Given the description of an element on the screen output the (x, y) to click on. 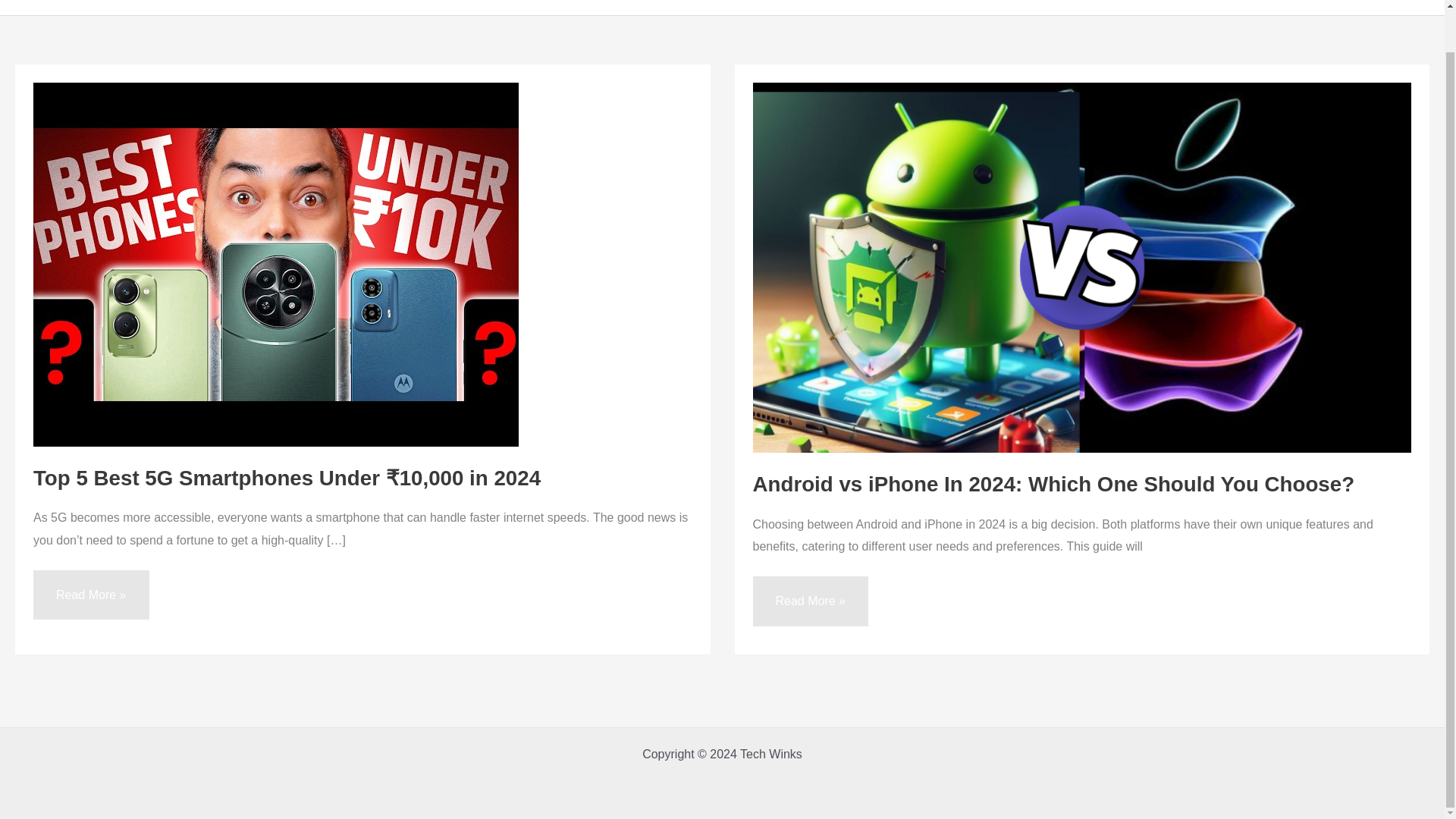
Home (904, 6)
Organic Tricks (1243, 6)
Facebook (1048, 6)
Free Followers (1139, 6)
Android vs iPhone In 2024: Which One Should You Choose? (1053, 484)
Free Followers Apps (1361, 6)
Instagram (971, 6)
